Given the description of an element on the screen output the (x, y) to click on. 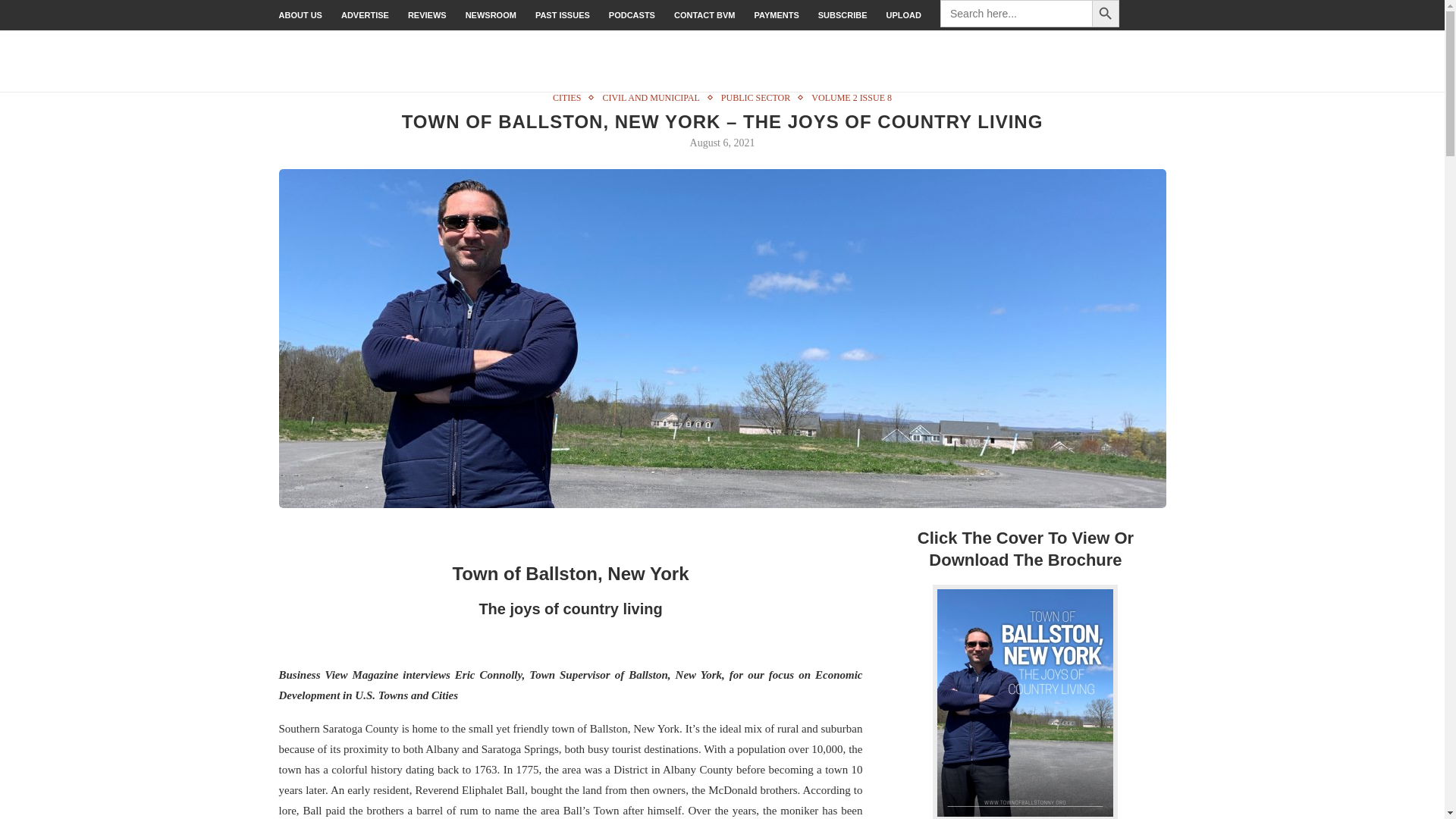
Caribbean (1144, 60)
Payments (775, 14)
Contact BVM (704, 14)
ABOUT US (300, 14)
Subscribe (842, 14)
VOLUME 2 ISSUE 8 (850, 97)
CIVIL AND MUNICIPAL (654, 97)
Newsroom (490, 14)
PODCASTS (631, 14)
NEWSROOM (490, 14)
REVIEWS (426, 14)
CONTACT BVM (704, 14)
ADVERTISE (364, 14)
Upload (903, 14)
PAST ISSUES (562, 14)
